Given the description of an element on the screen output the (x, y) to click on. 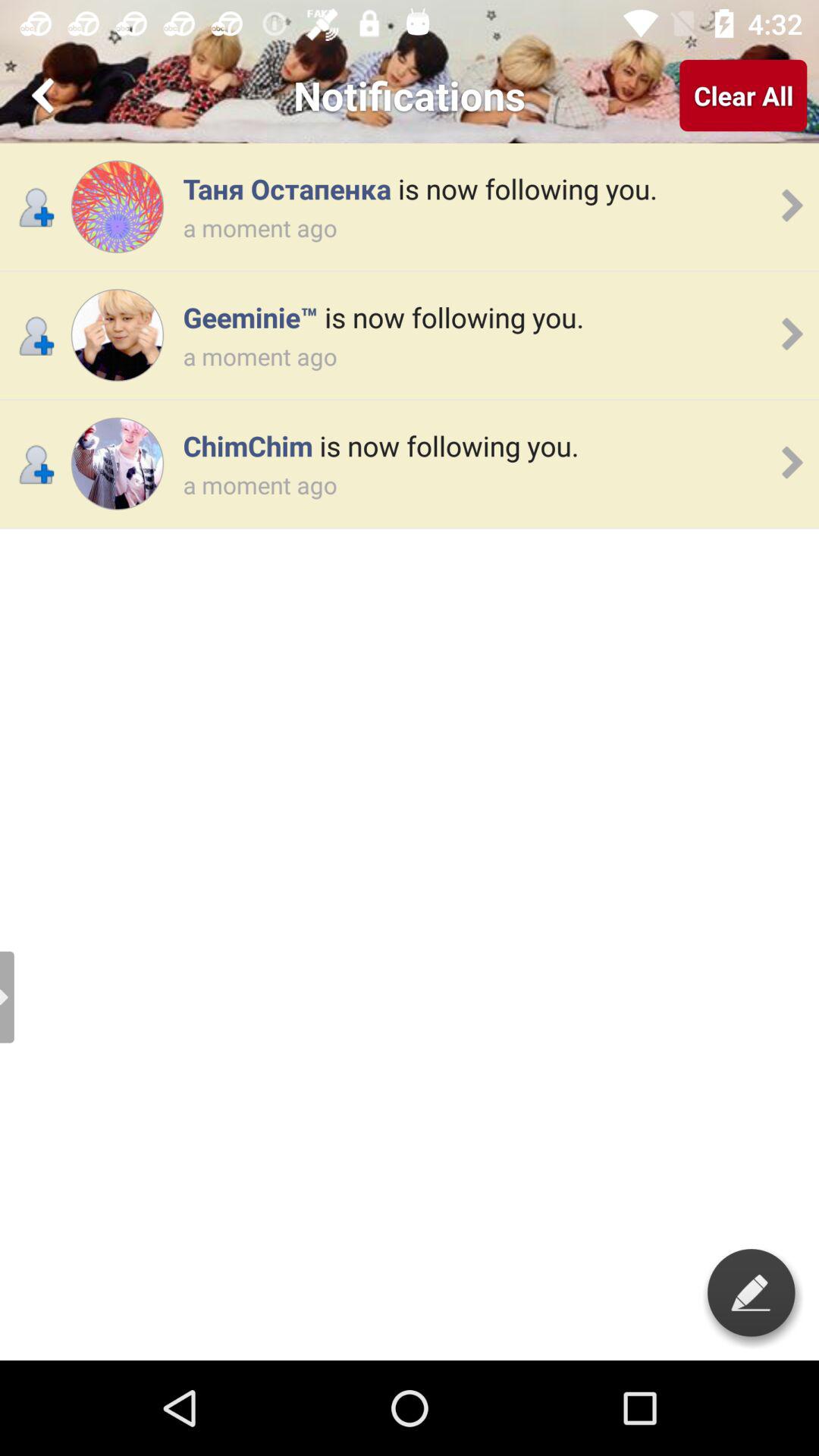
user avatar (117, 463)
